Given the description of an element on the screen output the (x, y) to click on. 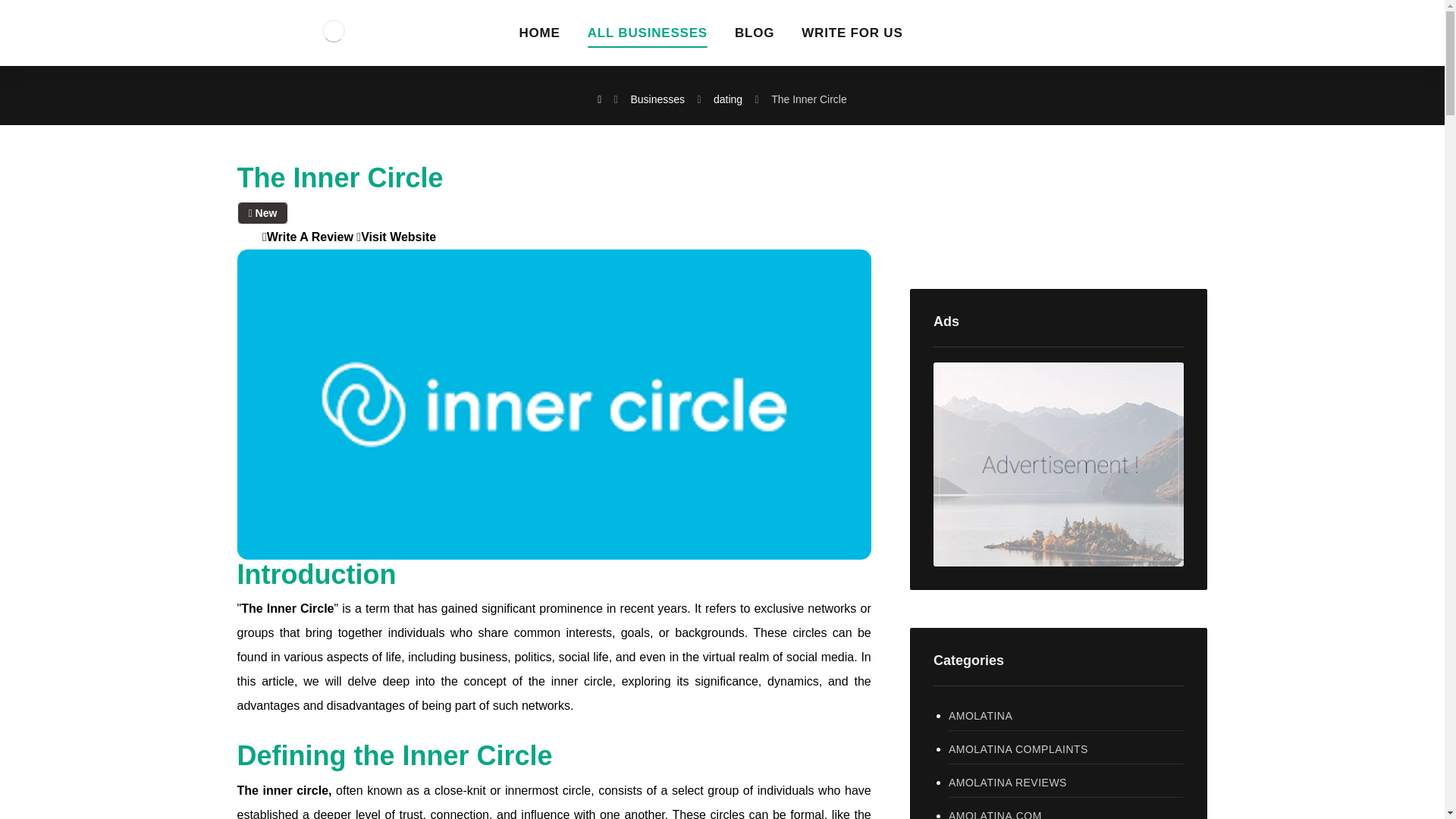
AMOLATINA COMPLAINTS (1066, 749)
ALL BUSINESSES (647, 38)
AMOLATINA (1066, 716)
WRITE FOR US (852, 38)
BLOG (754, 38)
New (261, 212)
dating (727, 99)
Write A Review (307, 236)
HOME (538, 38)
Search (1156, 206)
